Given the description of an element on the screen output the (x, y) to click on. 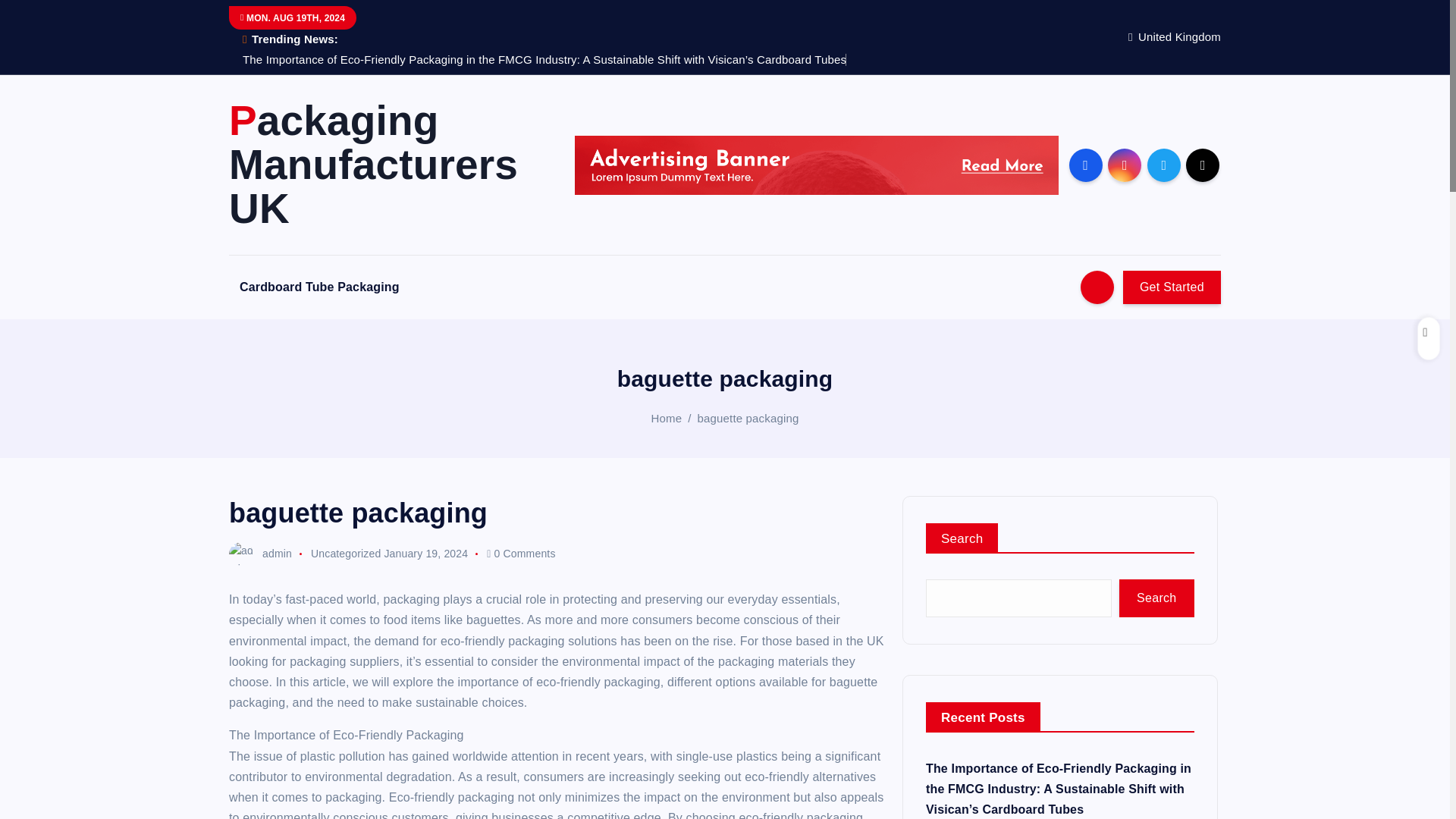
Get Started (1171, 287)
Packaging Manufacturers UK (387, 164)
Search (1156, 598)
admin (260, 553)
Uncategorized (345, 553)
Cardboard Tube Packaging (319, 287)
Cardboard Tube Packaging (319, 287)
Home (666, 418)
baguette packaging (748, 418)
